Given the description of an element on the screen output the (x, y) to click on. 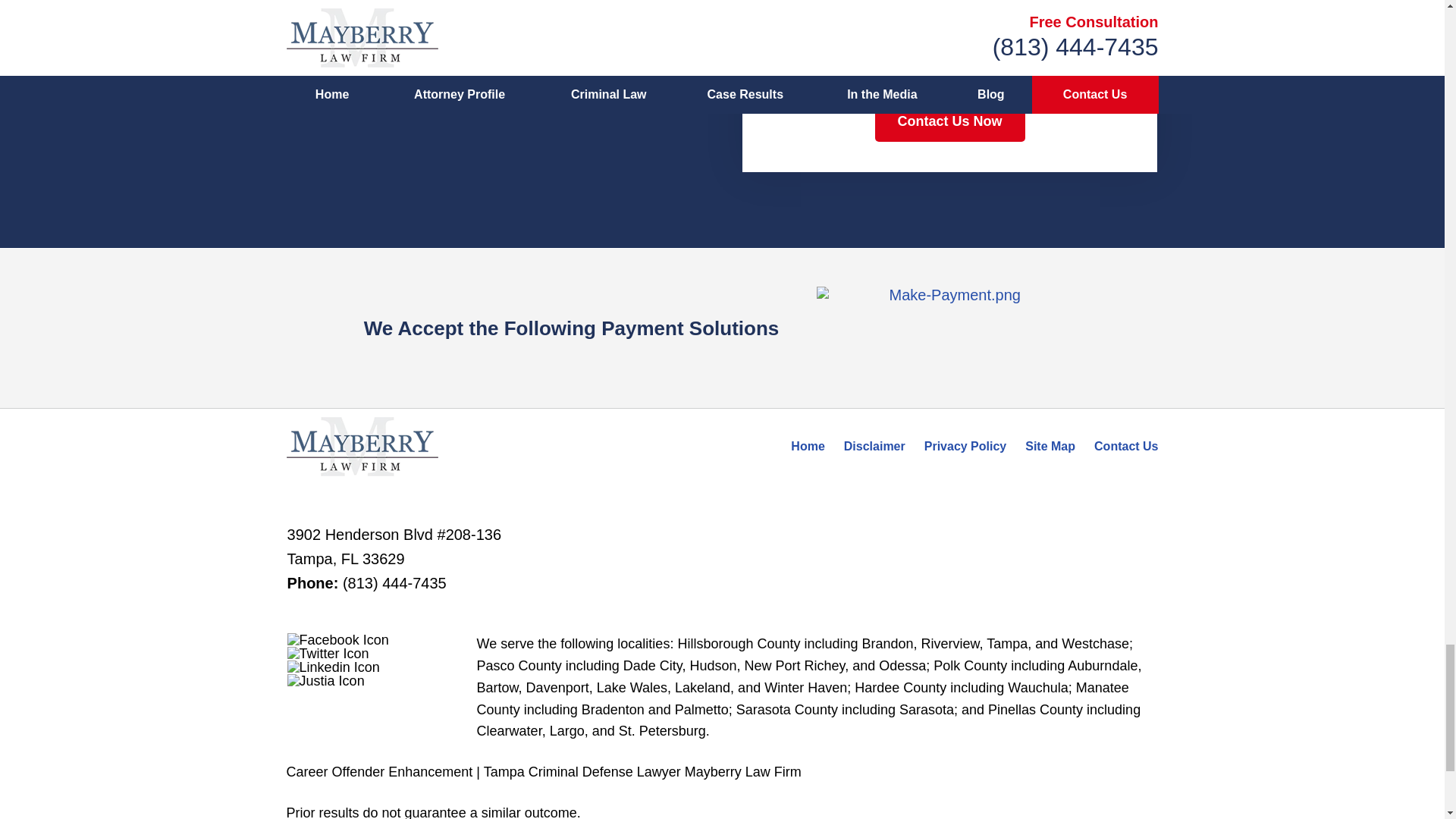
Justia (325, 680)
Facebook (337, 640)
Linkedin (333, 667)
Twitter (327, 653)
